Given the description of an element on the screen output the (x, y) to click on. 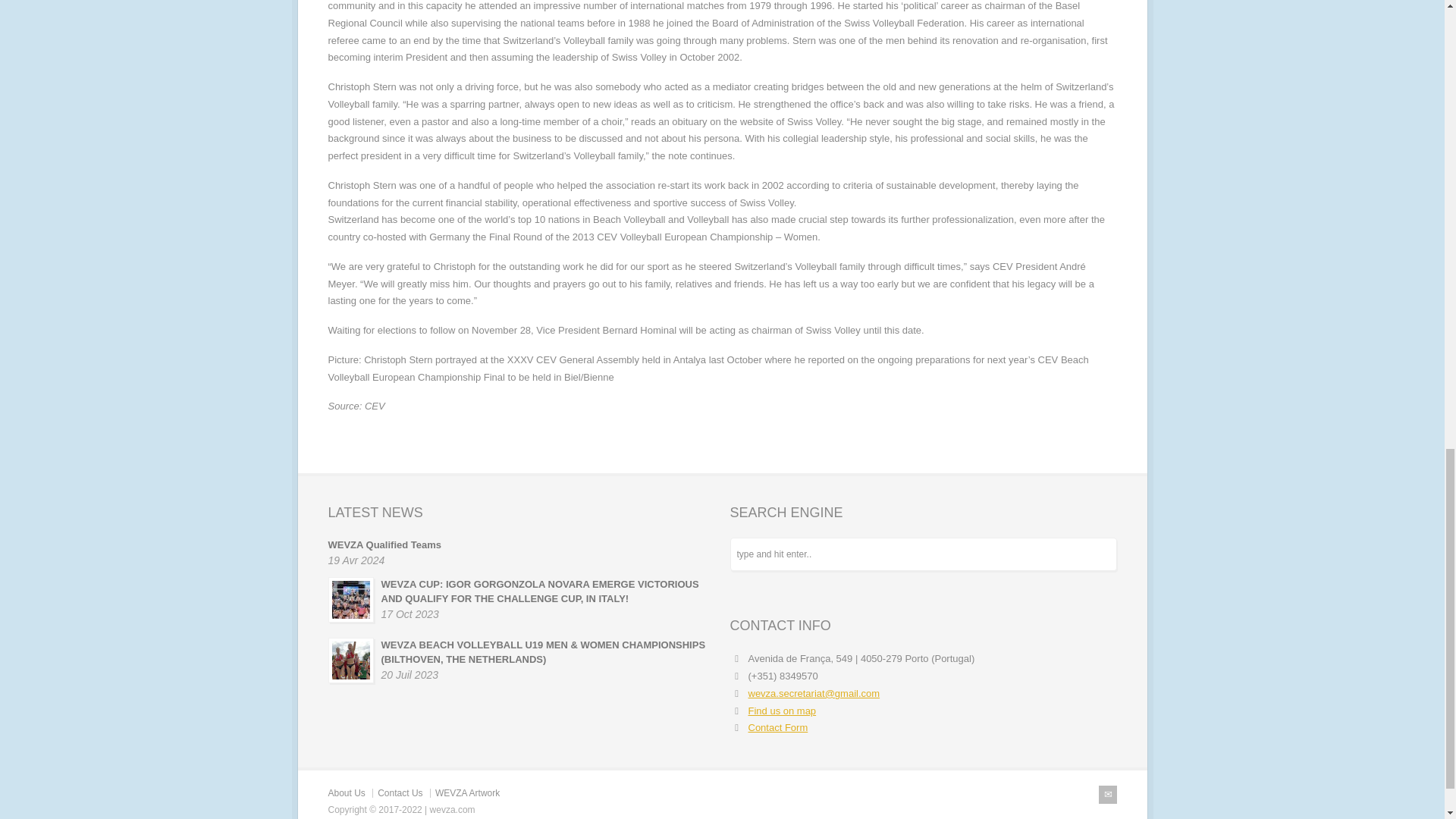
WEVZA Qualified Teams (384, 544)
About Us (346, 792)
WEVZA Artwork (467, 792)
Contact Us (399, 792)
Find us on map (781, 710)
Contact Form (778, 727)
Contact Form (778, 727)
Find us on map (781, 710)
